Given the description of an element on the screen output the (x, y) to click on. 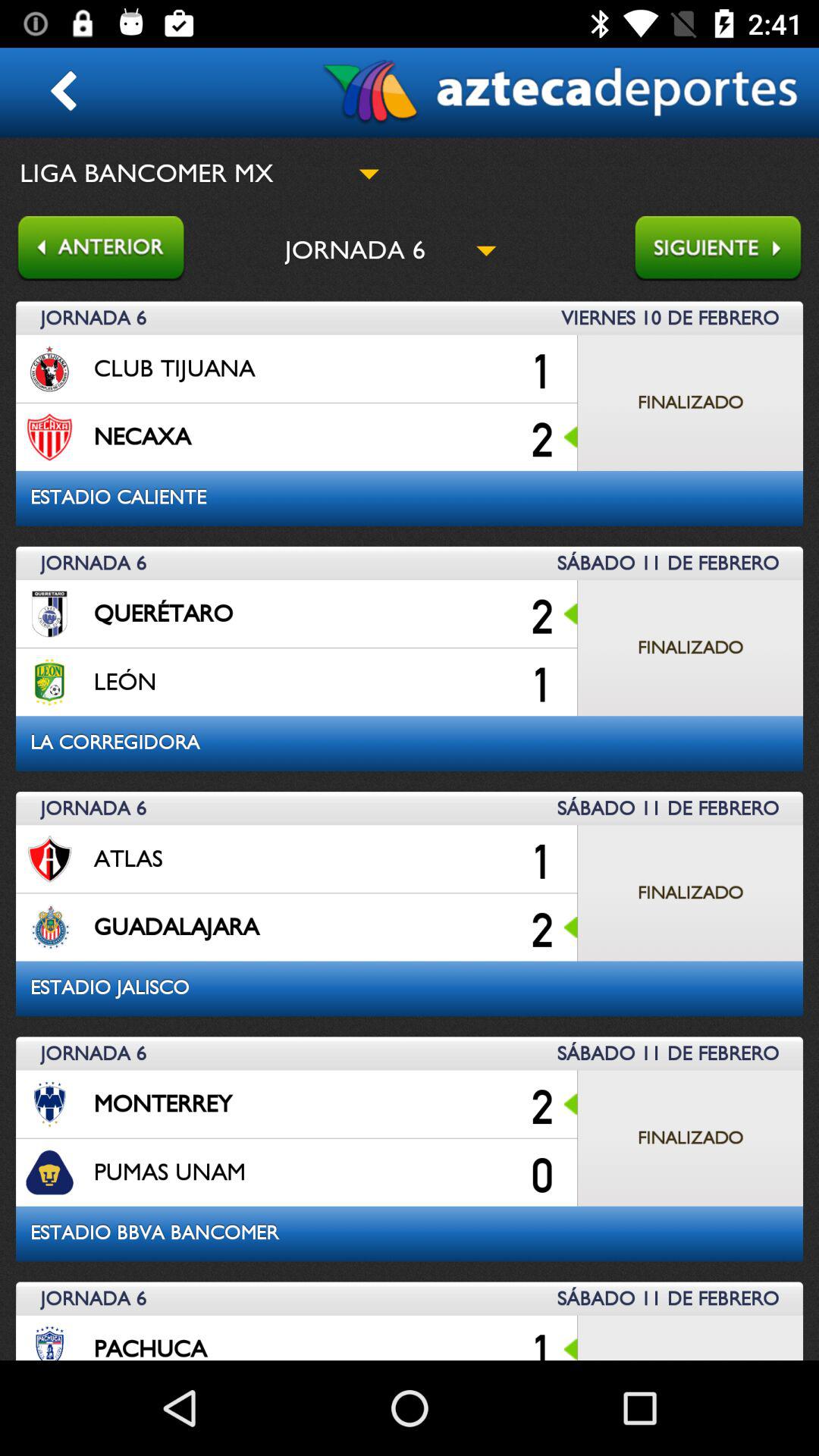
forword (726, 249)
